Given the description of an element on the screen output the (x, y) to click on. 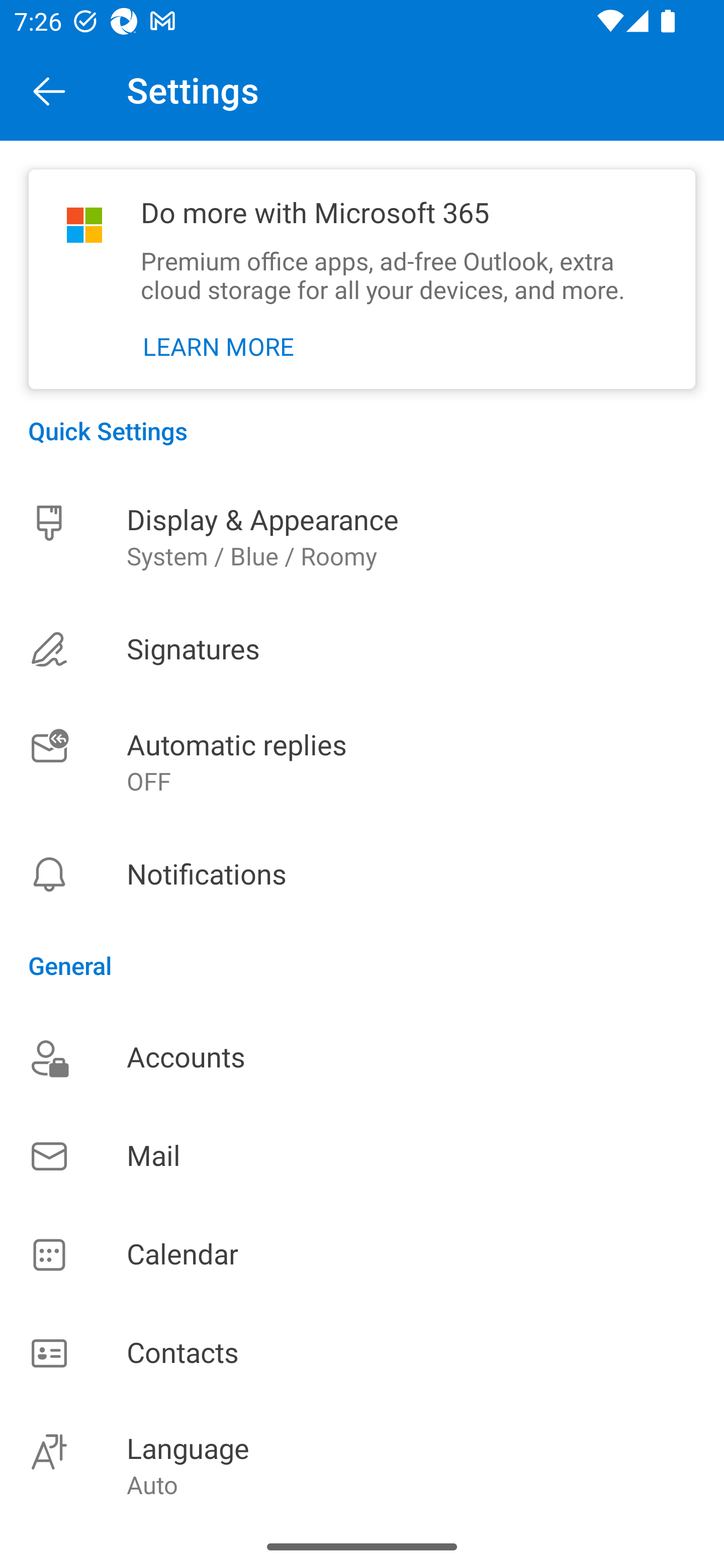
Back (49, 90)
LEARN MORE (218, 346)
Display & Appearance System / Blue / Roomy (362, 536)
Signatures (362, 649)
Automatic replies OFF (362, 762)
Notifications (362, 874)
Accounts (362, 1057)
Mail (362, 1156)
Calendar (362, 1254)
Contacts (362, 1353)
Language Auto (362, 1464)
